Given the description of an element on the screen output the (x, y) to click on. 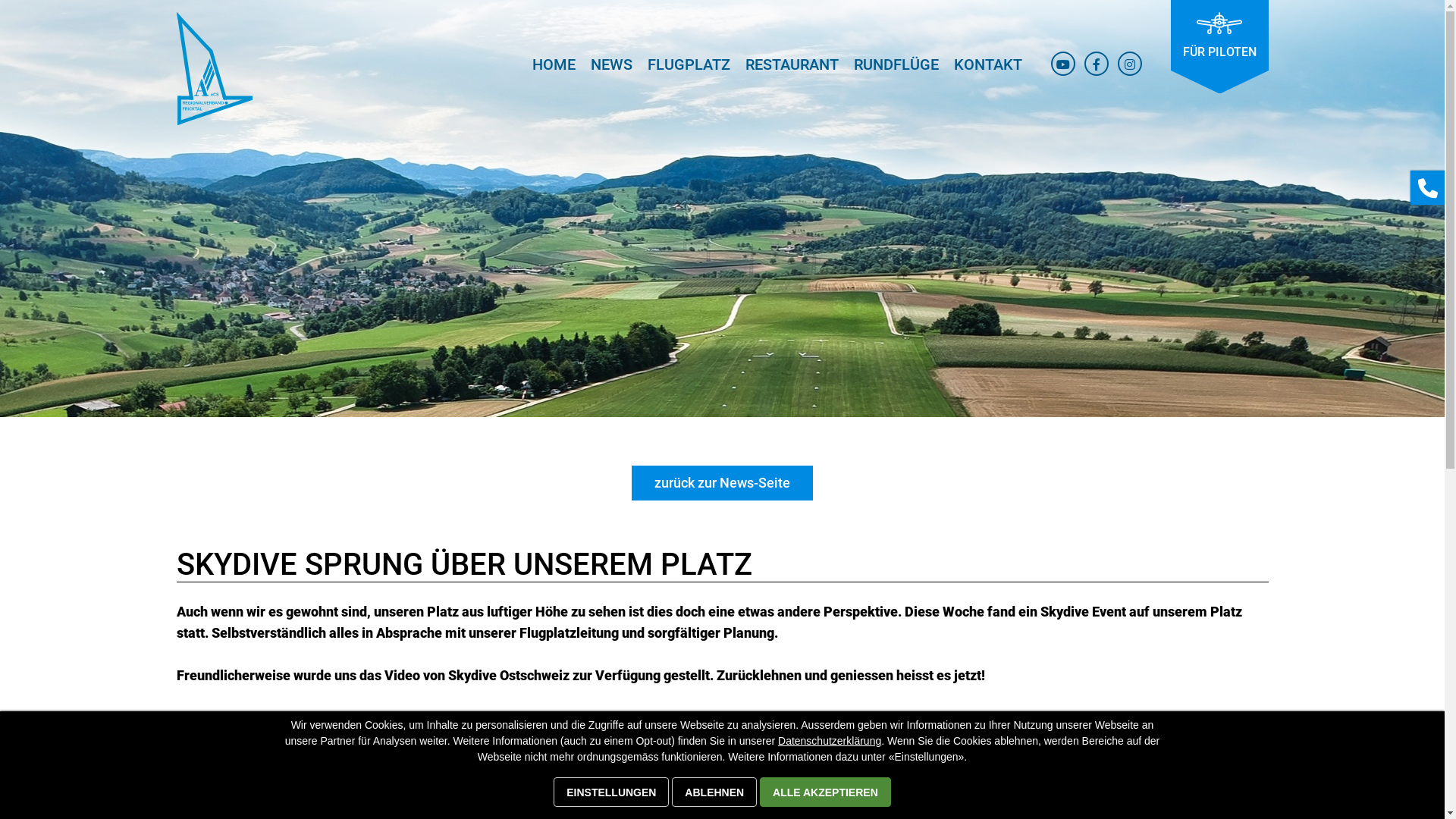
NEWS Element type: text (610, 69)
RESTAURANT Element type: text (790, 69)
HOME Element type: text (553, 69)
KONTAKT Element type: text (987, 69)
